Given the description of an element on the screen output the (x, y) to click on. 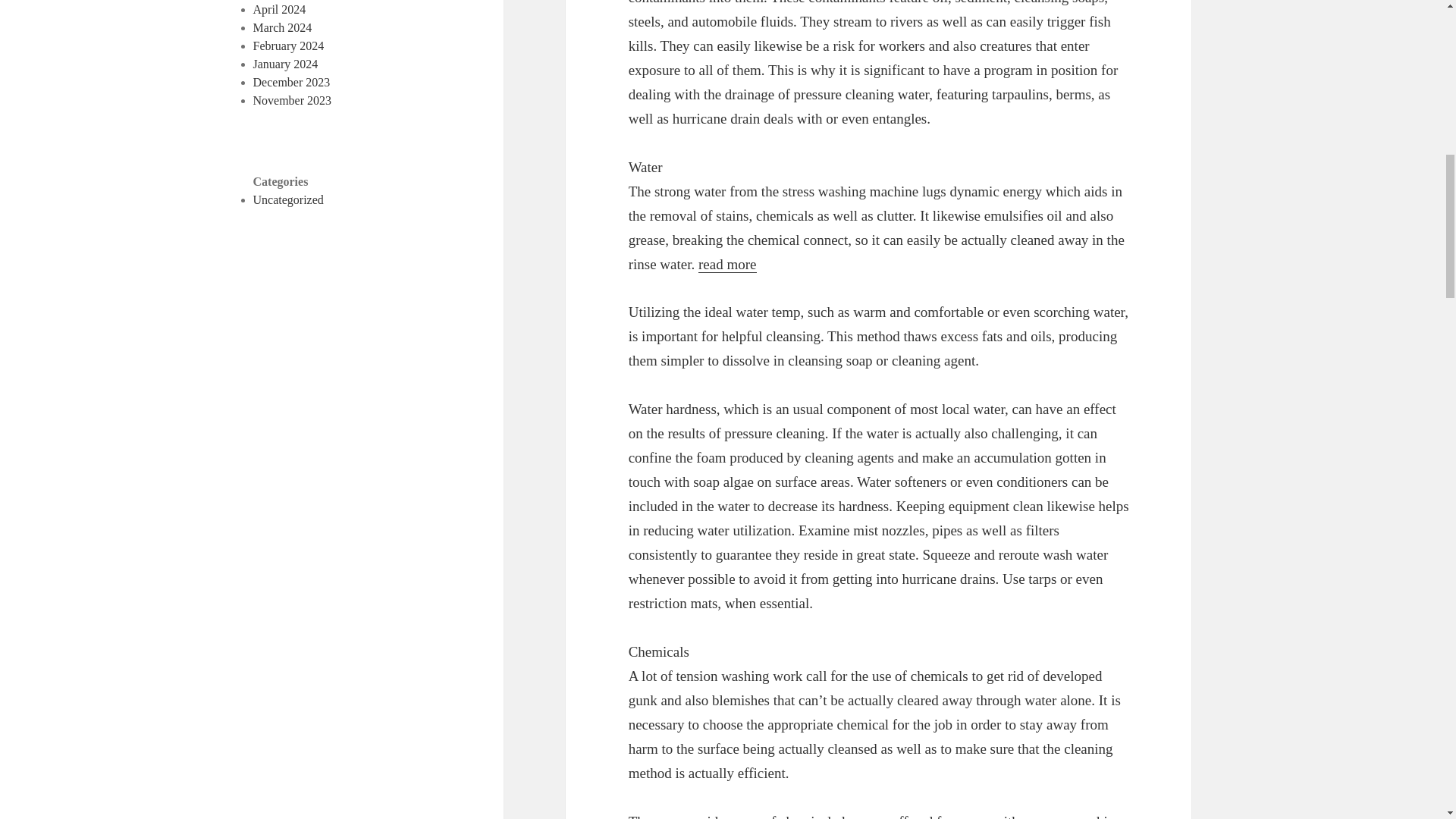
November 2023 (292, 100)
December 2023 (291, 82)
March 2024 (283, 27)
February 2024 (288, 45)
read more (726, 264)
January 2024 (285, 63)
April 2024 (279, 9)
Uncategorized (288, 199)
